Given the description of an element on the screen output the (x, y) to click on. 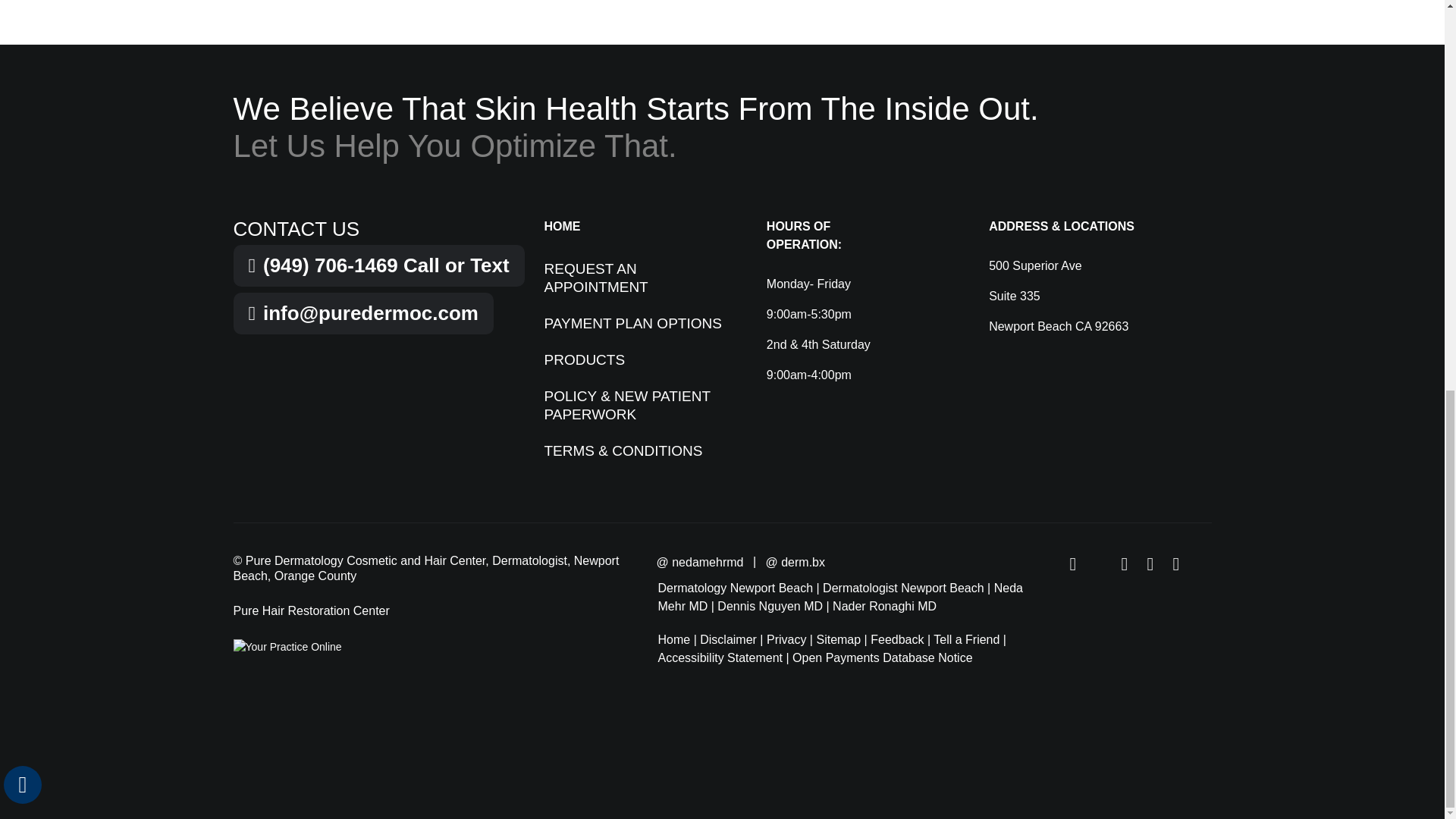
Hide (22, 40)
Accessible Tool Options (23, 40)
